Given the description of an element on the screen output the (x, y) to click on. 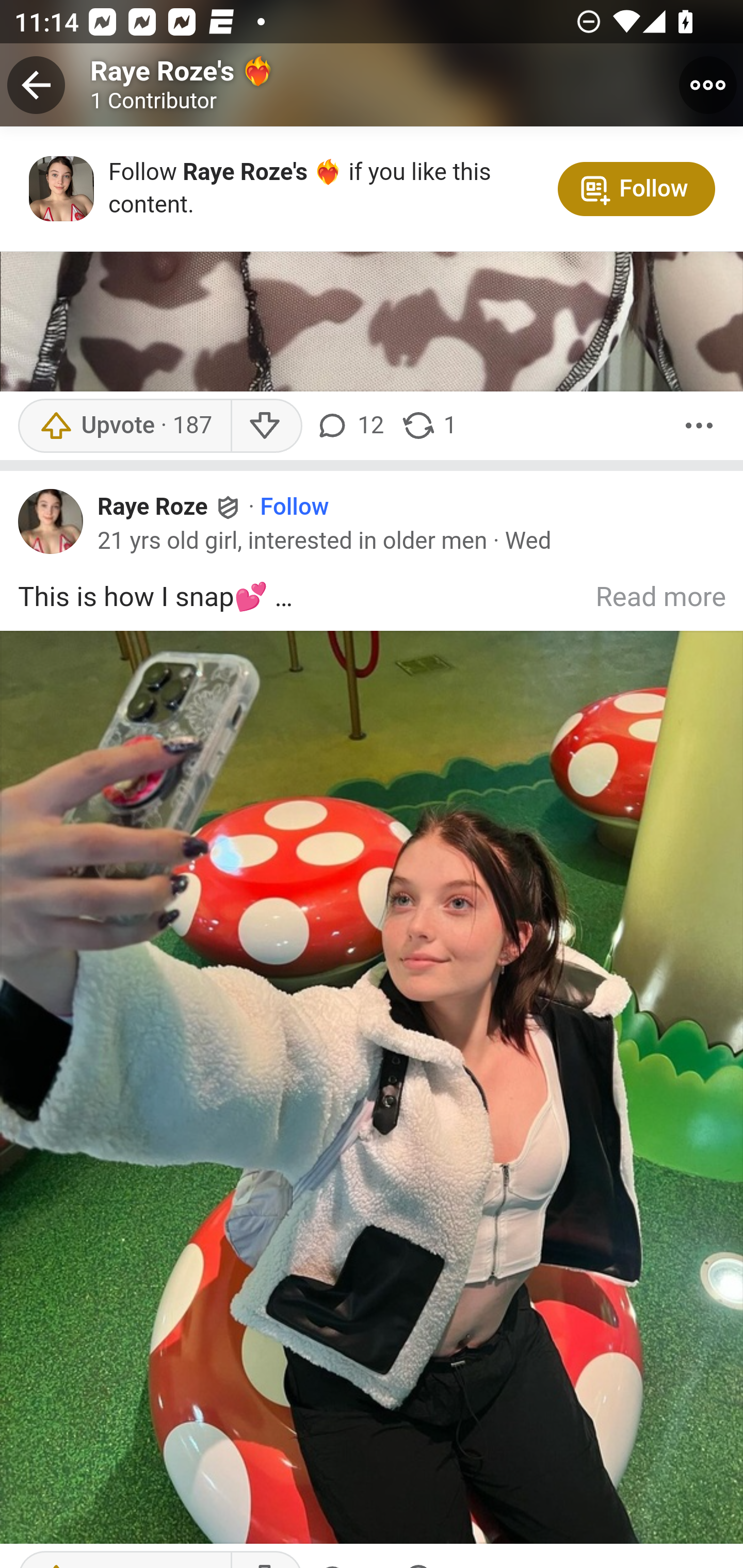
Upvote (124, 424)
Downvote (266, 424)
12 comments (352, 424)
1 share (428, 424)
More (699, 424)
Profile photo for Raye Roze (50, 520)
Raye Roze Raye Roze   (170, 507)
Follow (294, 507)
